Given the description of an element on the screen output the (x, y) to click on. 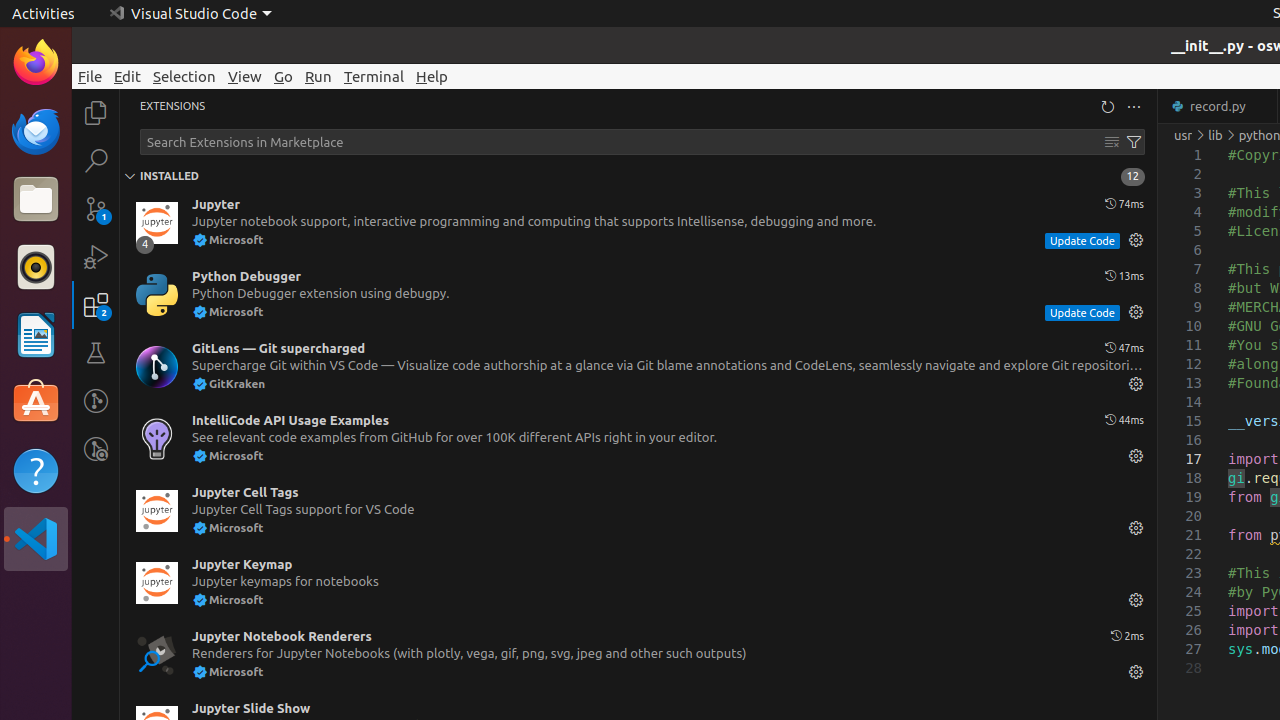
File Element type: push-button (90, 76)
Firefox Web Browser Element type: push-button (36, 63)
Search (Ctrl+Shift+F) Element type: page-tab (96, 160)
